Given the description of an element on the screen output the (x, y) to click on. 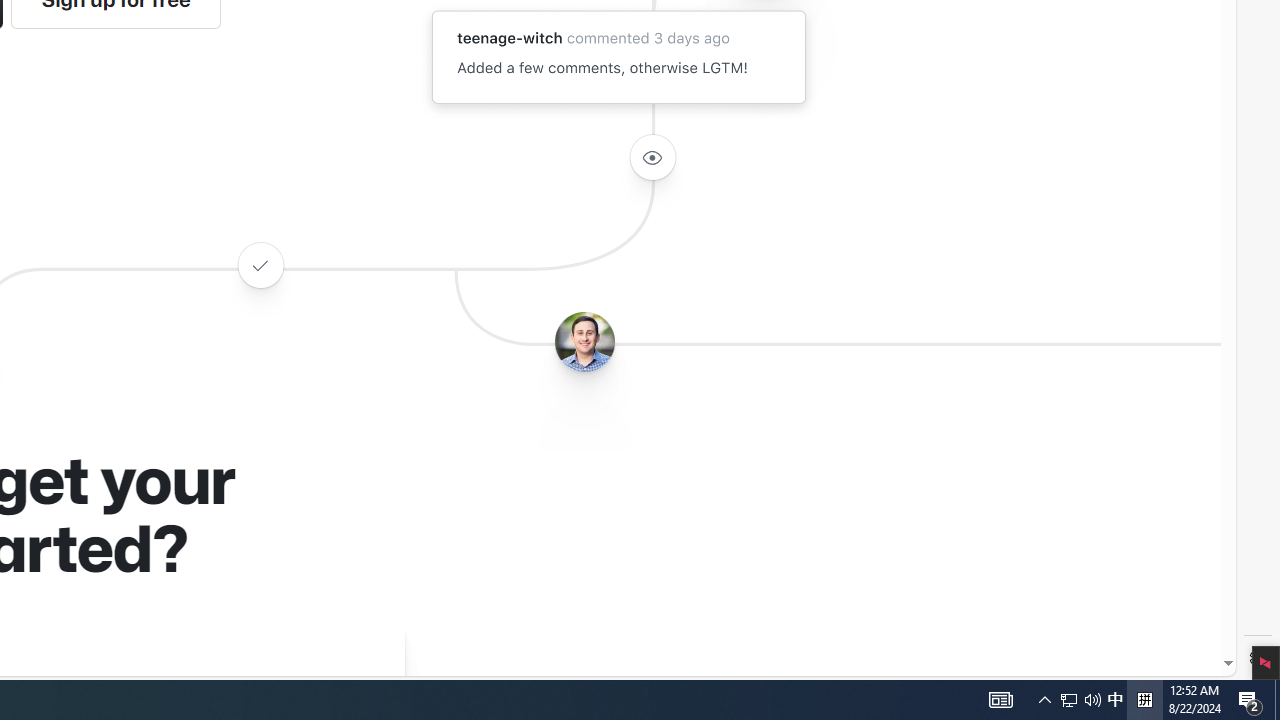
Class: color-fg-muted width-full (260, 264)
Avatar of the user benbalter (584, 341)
